Given the description of an element on the screen output the (x, y) to click on. 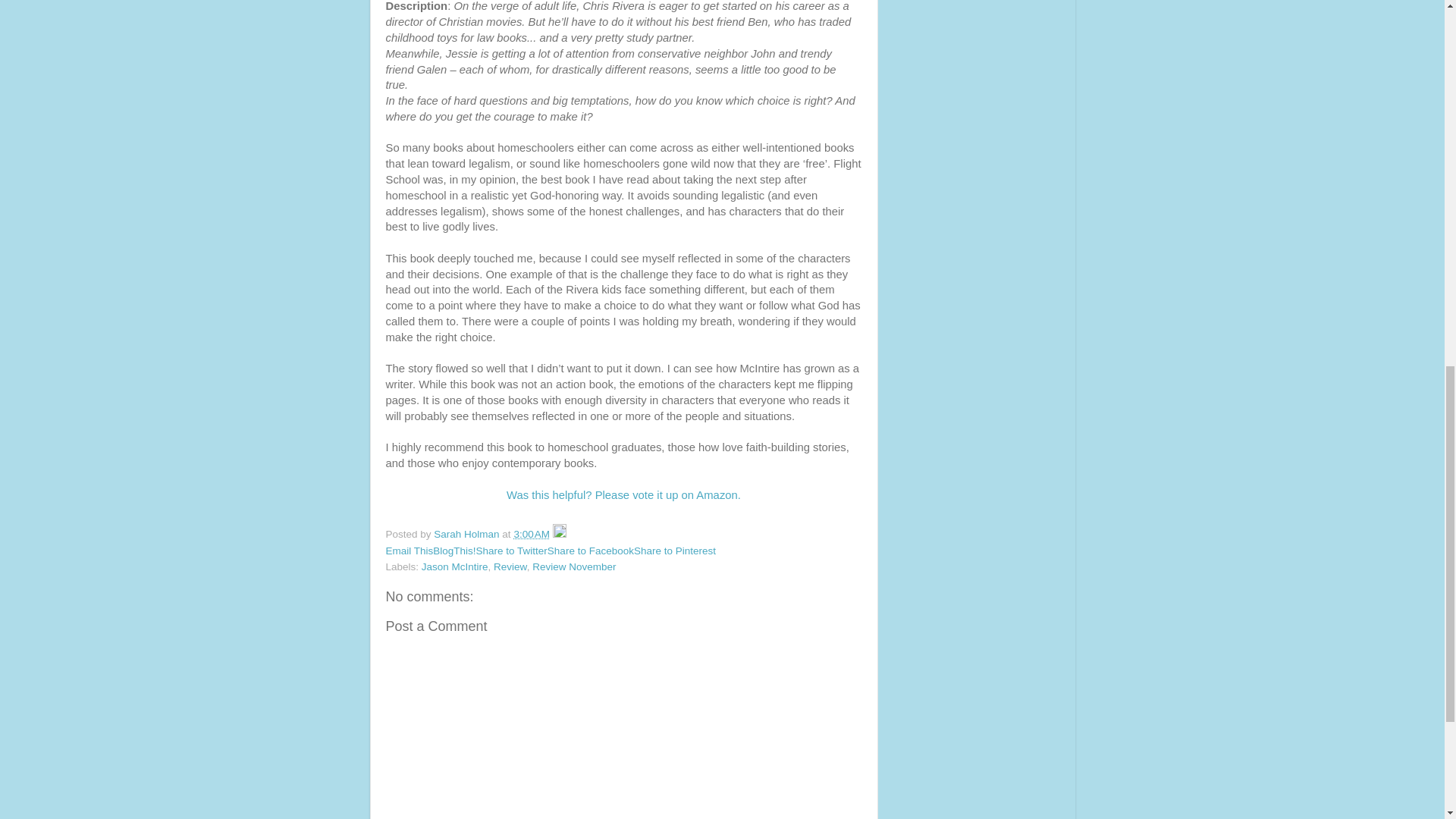
BlogThis! (454, 550)
Share to Pinterest (674, 550)
Share to Pinterest (674, 550)
Jason McIntire (454, 566)
author profile (467, 533)
Share to Twitter (511, 550)
BlogThis! (454, 550)
Email This (408, 550)
Edit Post (559, 533)
permanent link (531, 533)
Share to Facebook (590, 550)
Share to Facebook (590, 550)
Sarah Holman (467, 533)
Was this helpful? Please vote it up on Amazon. (623, 494)
